Given the description of an element on the screen output the (x, y) to click on. 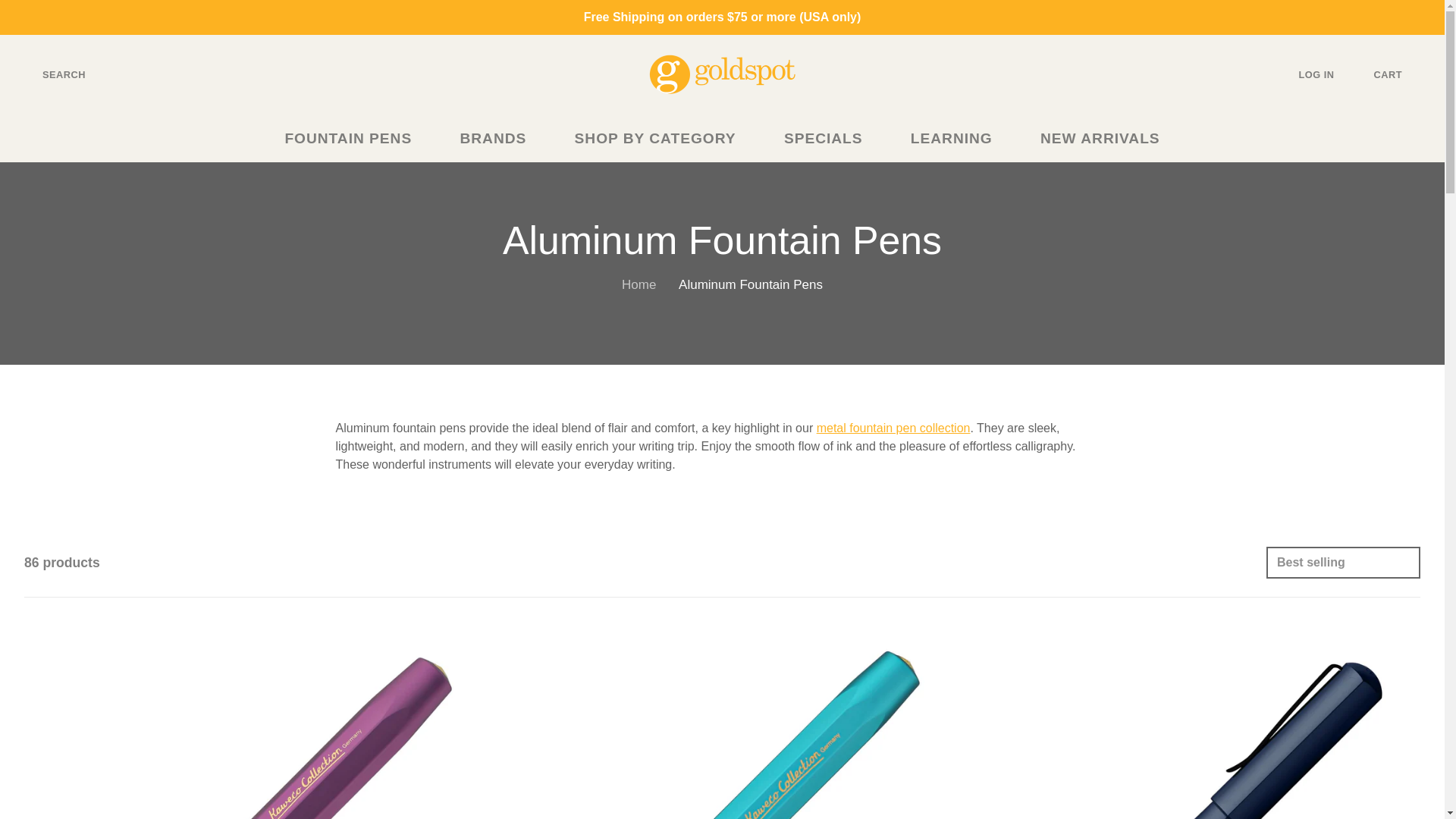
SEARCH (51, 74)
CART (1399, 74)
LOG IN (1328, 74)
FOUNTAIN PENS (357, 139)
Home (638, 284)
